Given the description of an element on the screen output the (x, y) to click on. 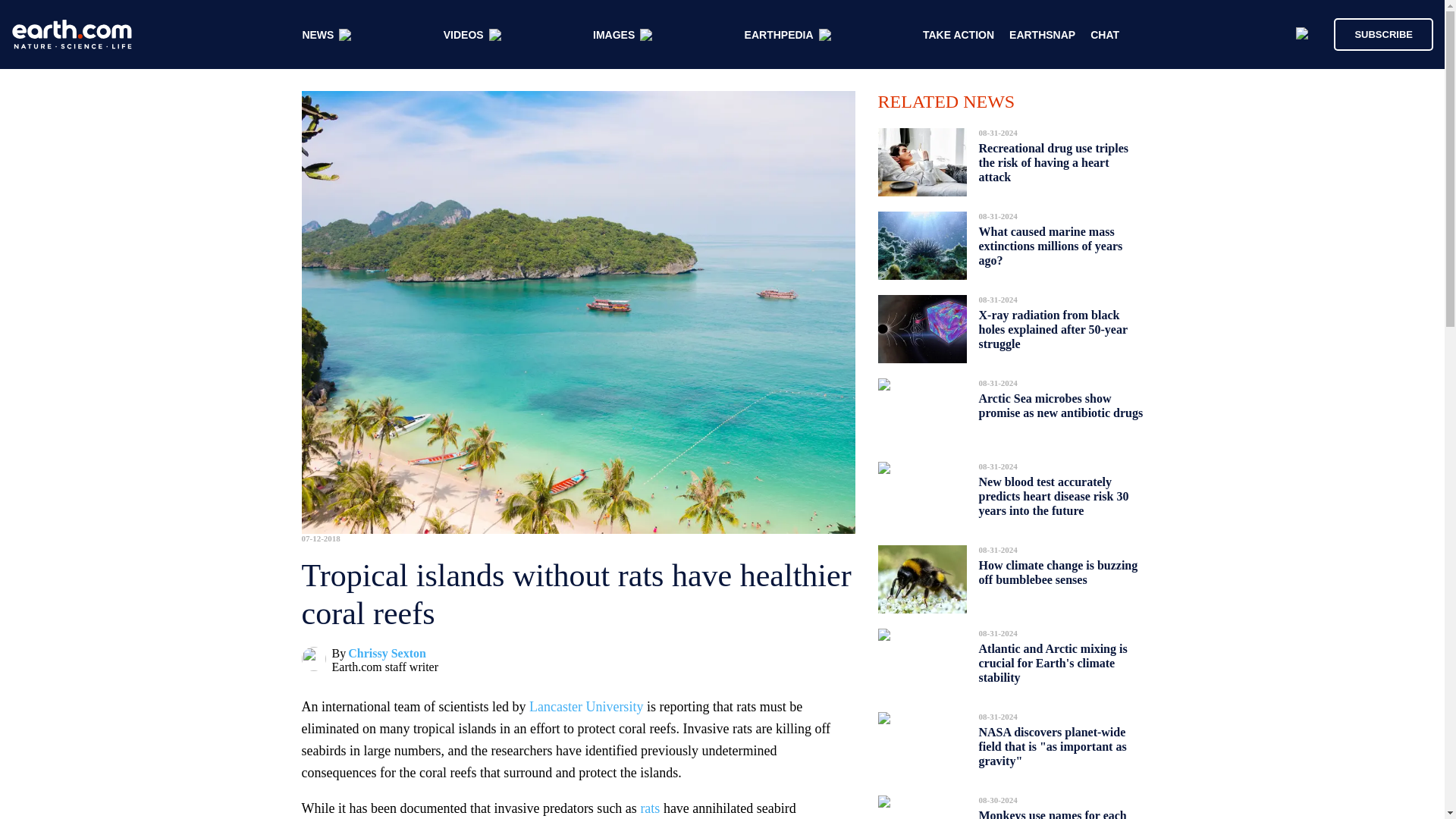
Lancaster University (586, 706)
SUBSCRIBE (1382, 34)
CHAT (1104, 34)
TAKE ACTION (958, 34)
Chrissy Sexton (386, 653)
What caused marine mass extinctions millions of years ago? (1050, 245)
rats (649, 807)
